Given the description of an element on the screen output the (x, y) to click on. 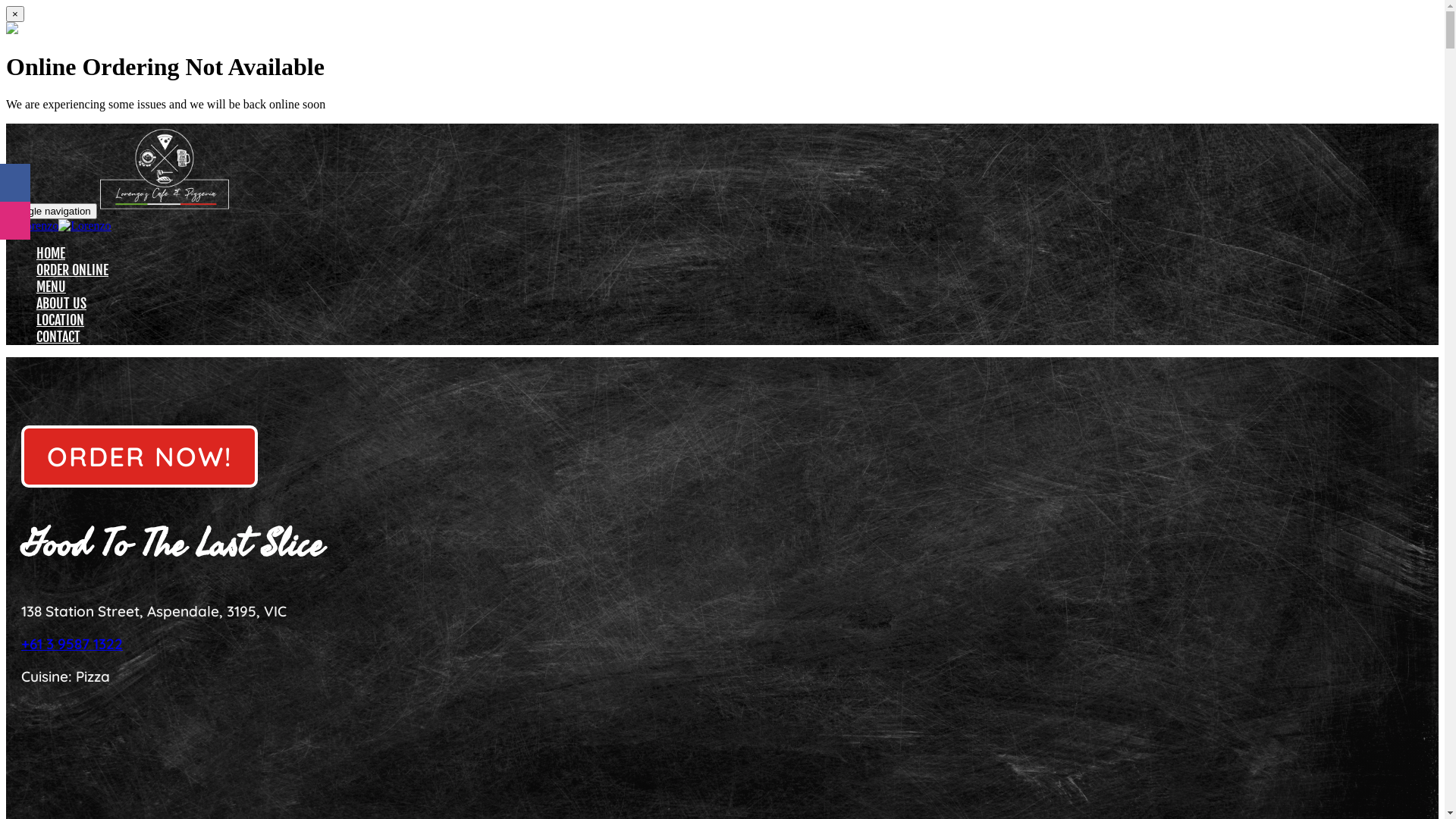
Toggle navigation Element type: text (51, 211)
ORDER NOW! Element type: text (139, 456)
Share on Facebook Element type: hover (15, 182)
CONTACT Element type: text (69, 337)
ABOUT US Element type: text (72, 304)
ORDER NOW! Element type: text (139, 461)
LOCATION Element type: text (71, 320)
ORDER ONLINE Element type: text (83, 270)
+61 3 9587 1322 Element type: text (71, 643)
MENU Element type: text (62, 287)
HOME Element type: text (61, 254)
